Given the description of an element on the screen output the (x, y) to click on. 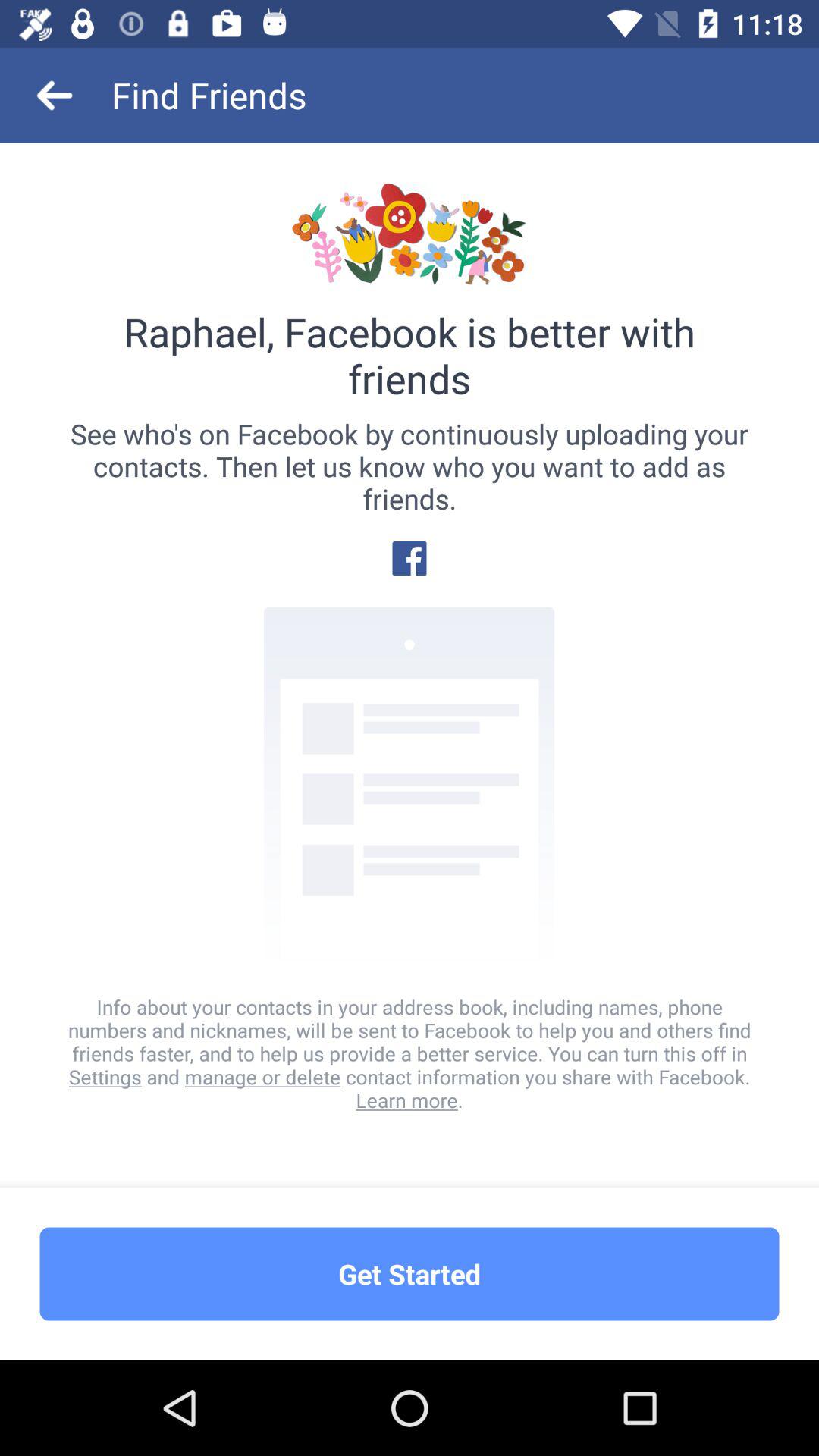
flip to the get started (409, 1273)
